Given the description of an element on the screen output the (x, y) to click on. 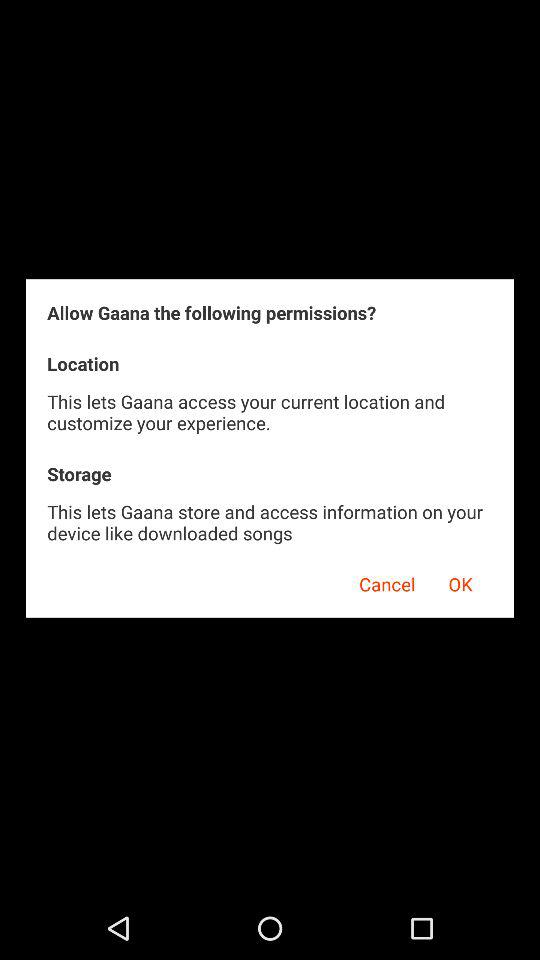
turn on the ok item (460, 581)
